Given the description of an element on the screen output the (x, y) to click on. 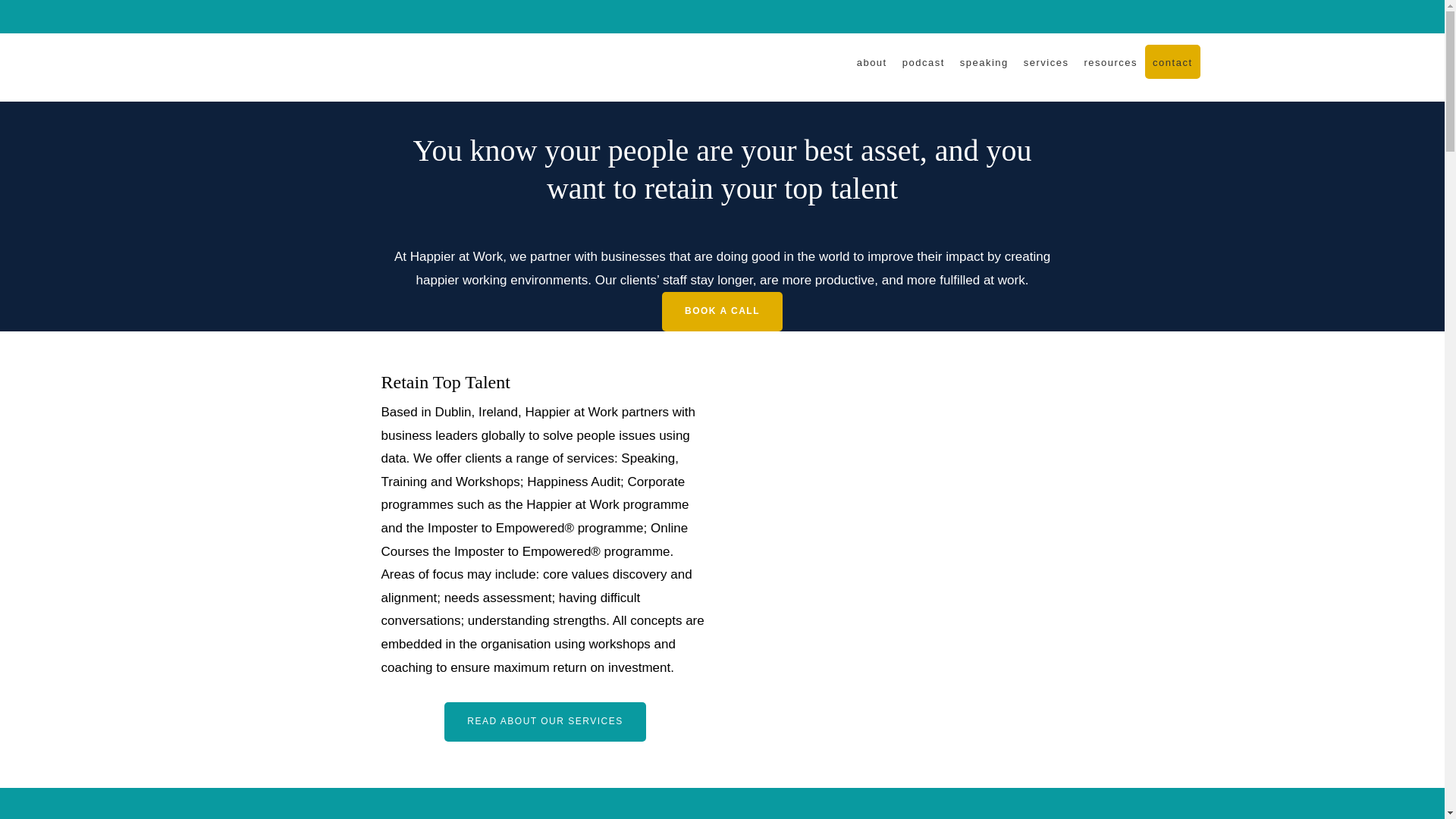
resources (1111, 61)
services (1046, 61)
podcast (923, 61)
contact (1171, 61)
BOOK A CALL (722, 311)
speaking (984, 61)
READ ABOUT OUR SERVICES (544, 721)
about (871, 61)
